Given the description of an element on the screen output the (x, y) to click on. 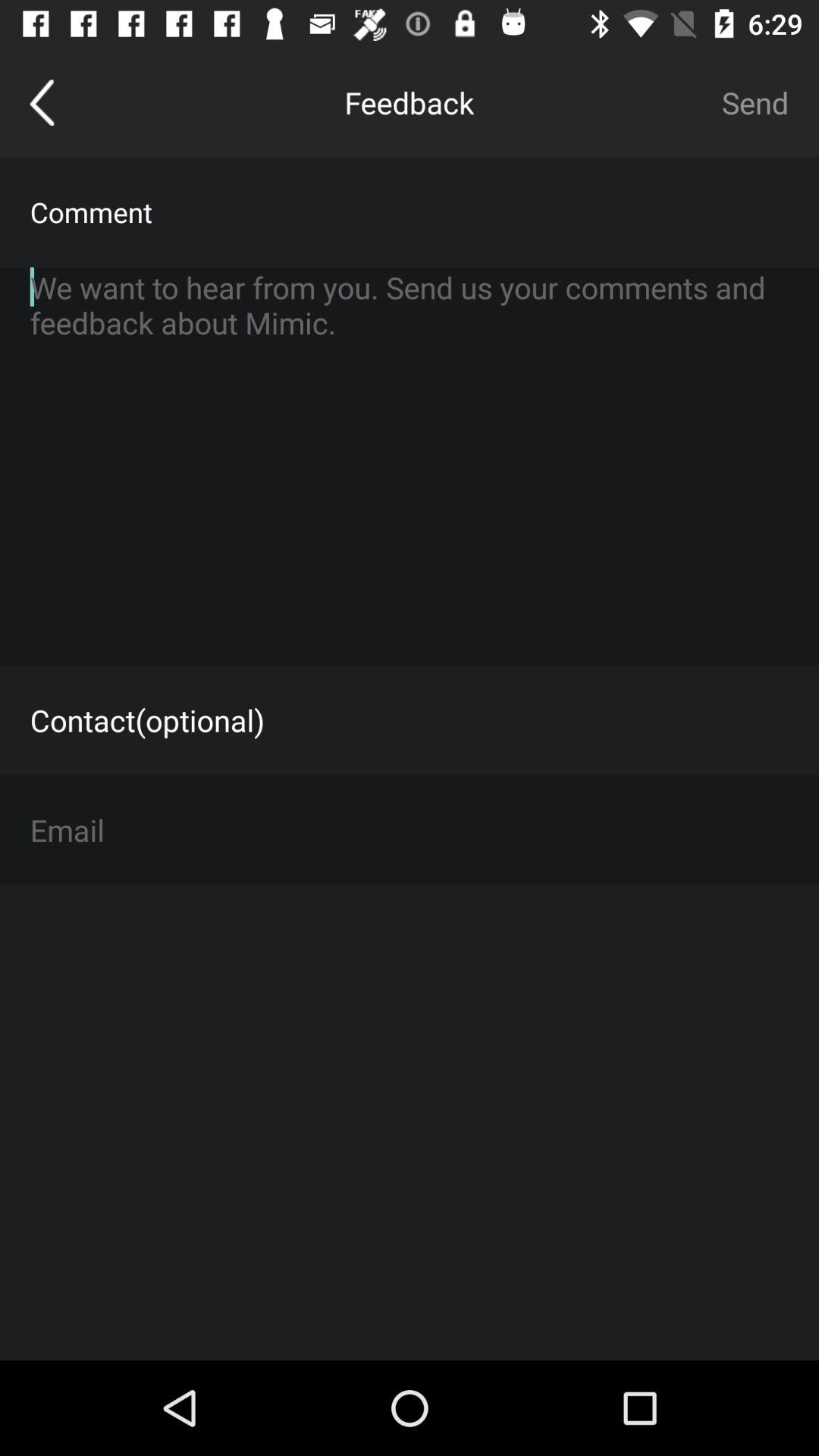
comment box (409, 466)
